Given the description of an element on the screen output the (x, y) to click on. 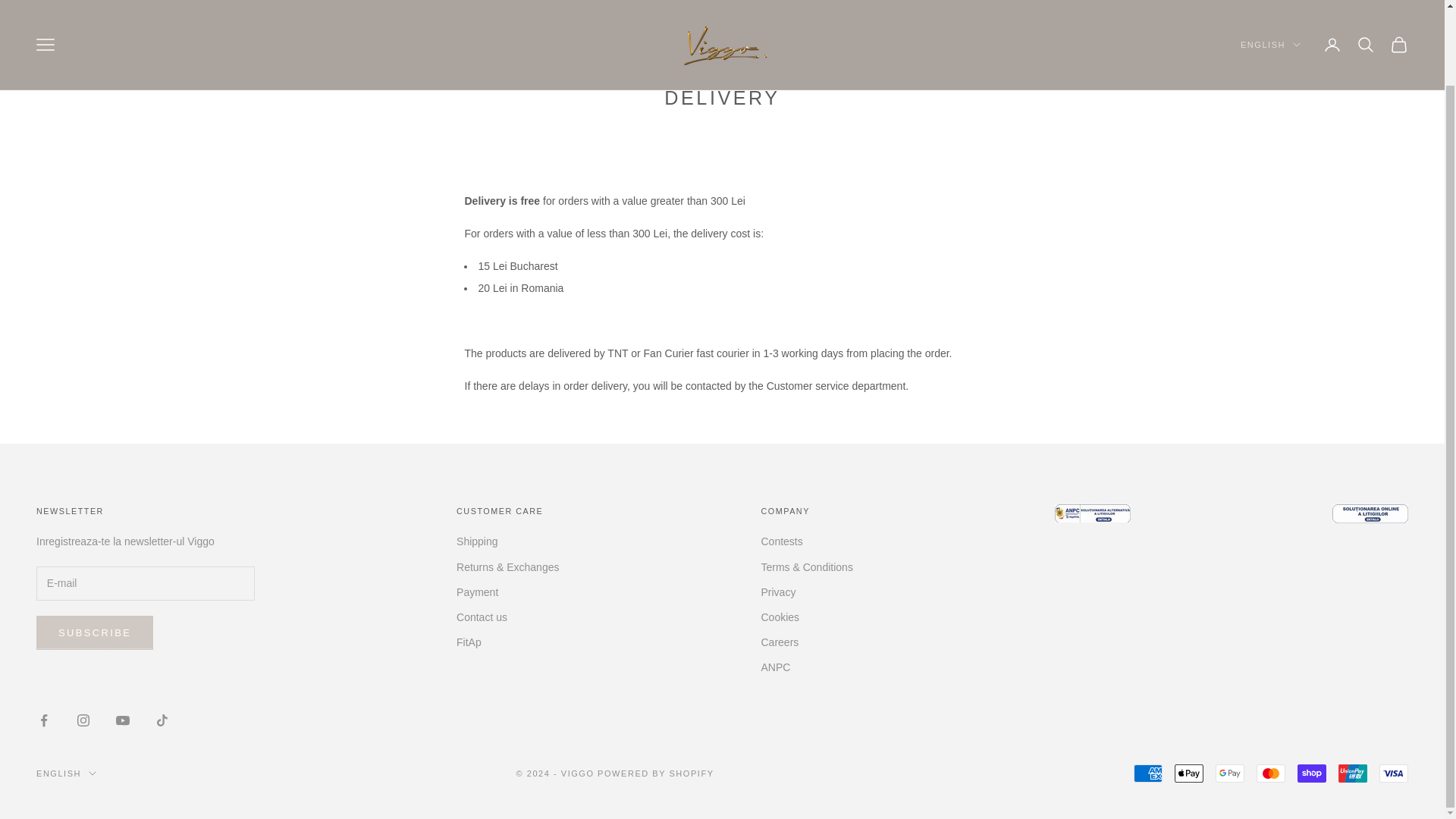
Contact us (481, 616)
Contests (782, 541)
SUBSCRIBE (94, 632)
Payment (477, 592)
Privacy (778, 592)
Cookies (780, 616)
Shipping (477, 541)
FitAp (469, 642)
Viggo (721, 10)
